Given the description of an element on the screen output the (x, y) to click on. 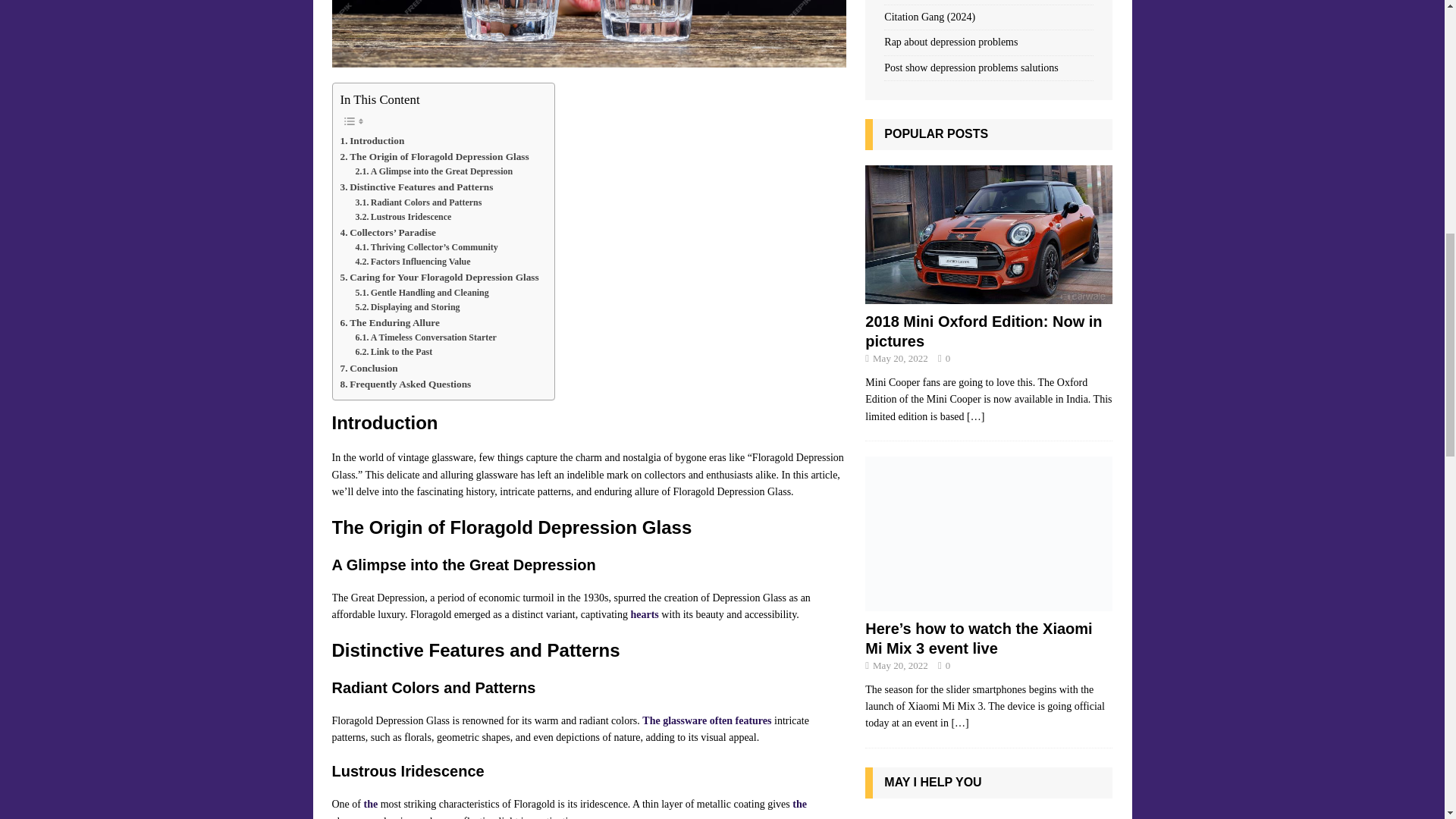
The Origin of Floragold Depression Glass (433, 156)
Radiant Colors and Patterns (418, 202)
Link to the Past (393, 351)
Link to the Past (393, 351)
the (371, 803)
Distinctive Features and Patterns (416, 186)
The glassware often features (706, 720)
A Glimpse into the Great Depression (433, 171)
Lustrous Iridescence (403, 216)
Introduction (371, 140)
Displaying and Storing (407, 307)
The Enduring Allure (389, 322)
Frequently Asked Questions (404, 383)
Displaying and Storing (407, 307)
A Timeless Conversation Starter (425, 337)
